Given the description of an element on the screen output the (x, y) to click on. 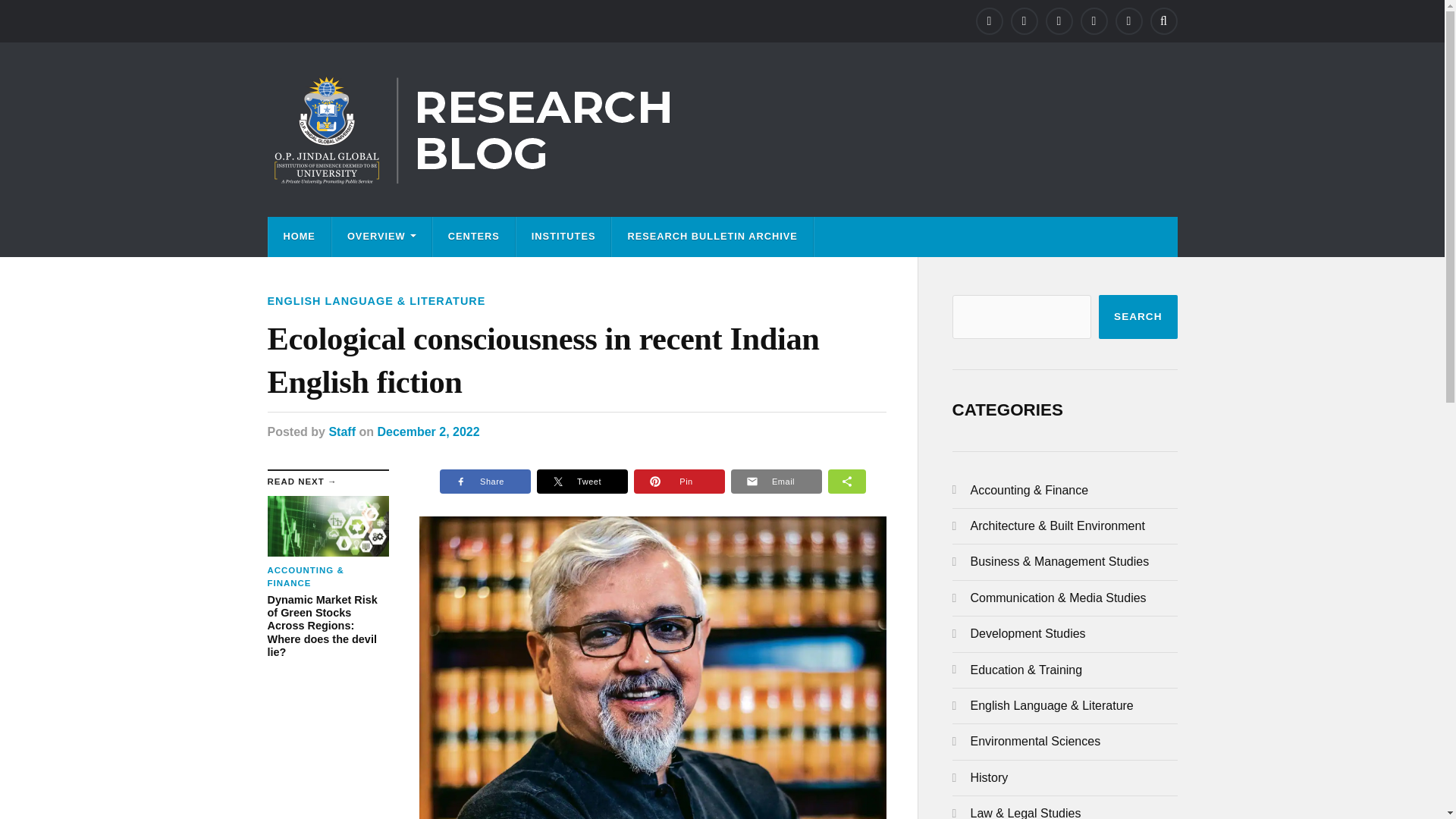
Staff (342, 431)
OVERVIEW (380, 237)
December 2, 2022 (428, 431)
INSTITUTES (563, 237)
HOME (298, 237)
CENTERS (473, 237)
RESEARCH BULLETIN ARCHIVE (711, 237)
